Given the description of an element on the screen output the (x, y) to click on. 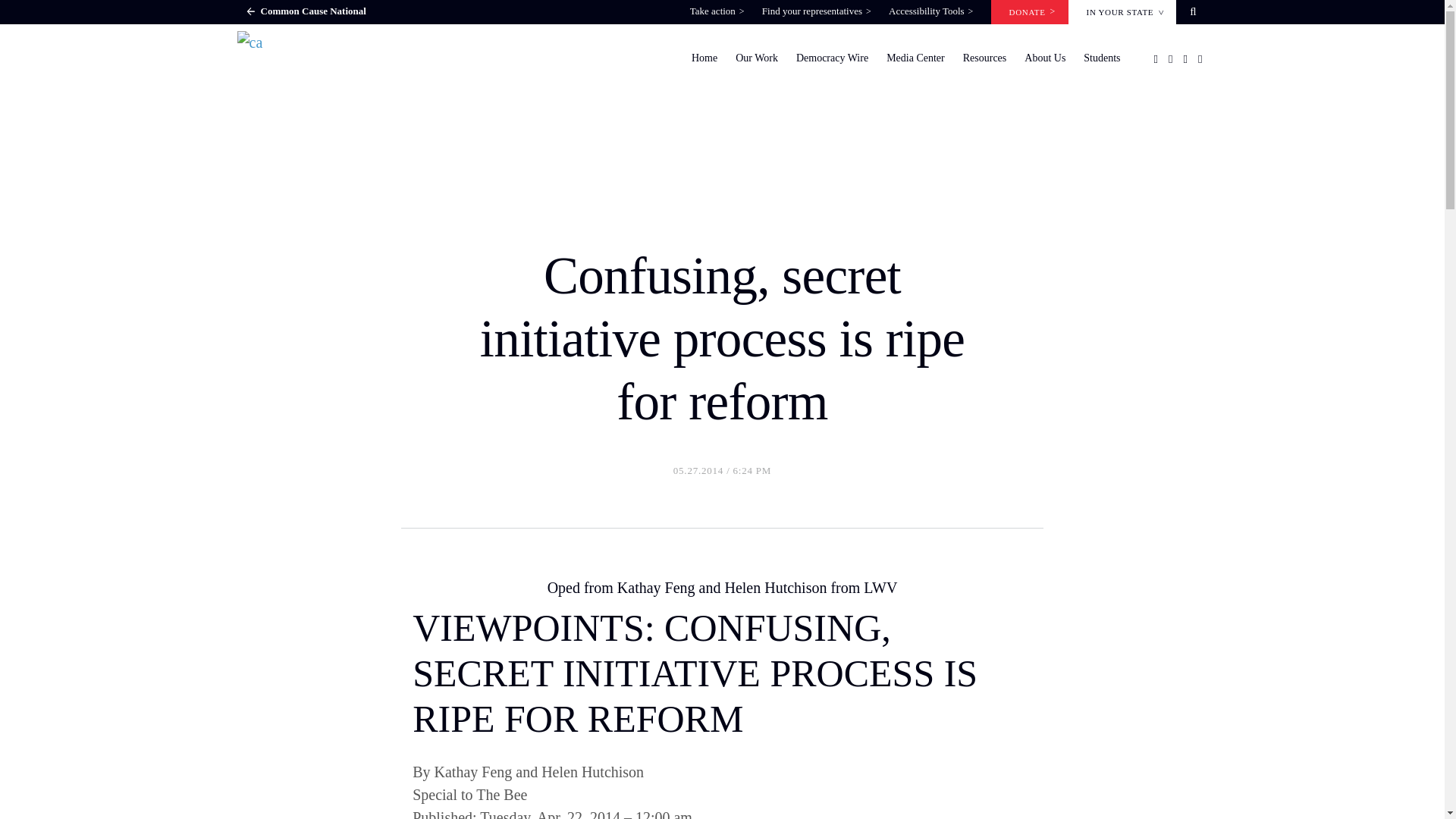
Press enter to search (785, 465)
2014-04-22T00:00:00-0700 (722, 812)
